Given the description of an element on the screen output the (x, y) to click on. 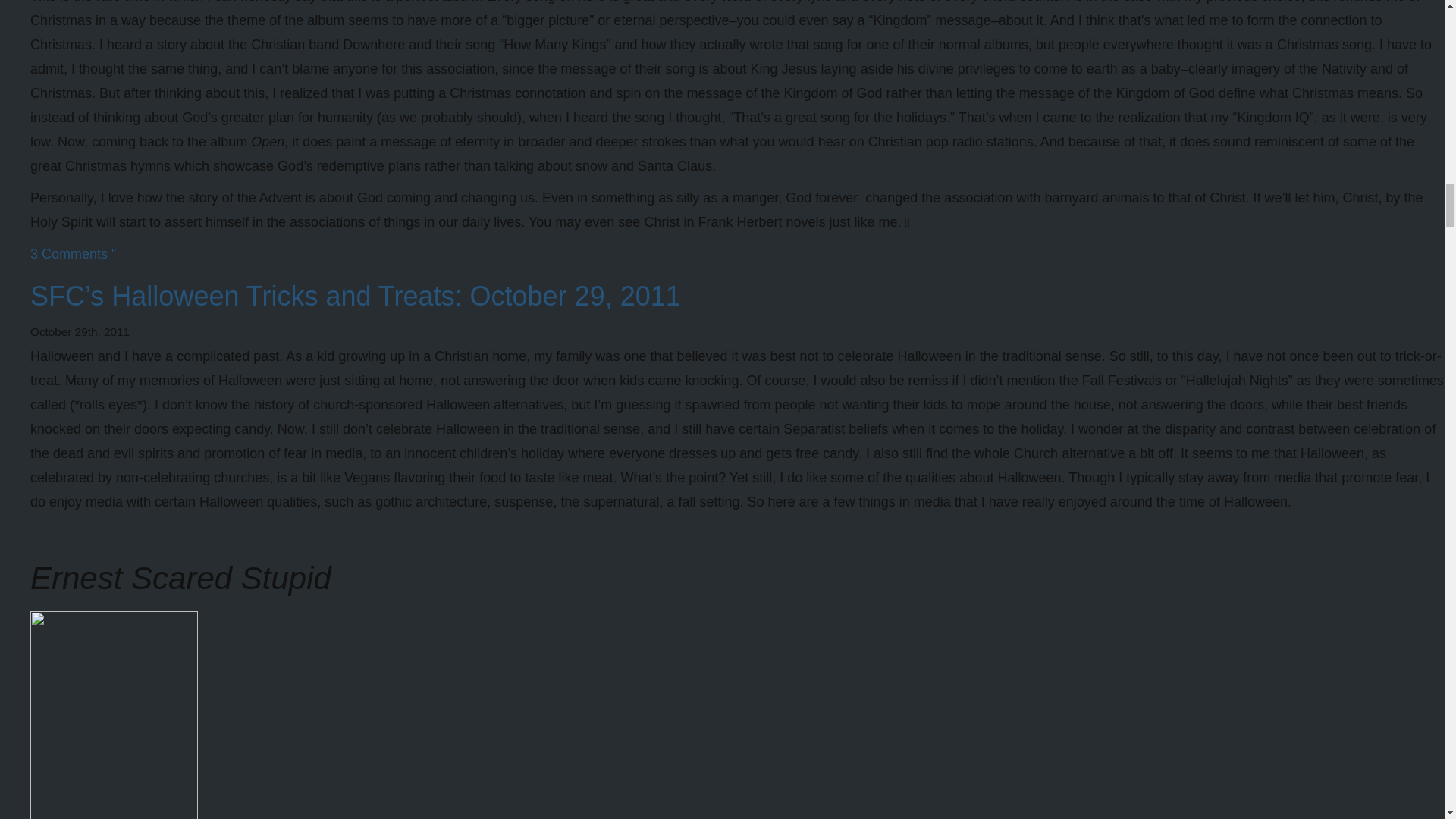
3 Comments " (73, 253)
